Given the description of an element on the screen output the (x, y) to click on. 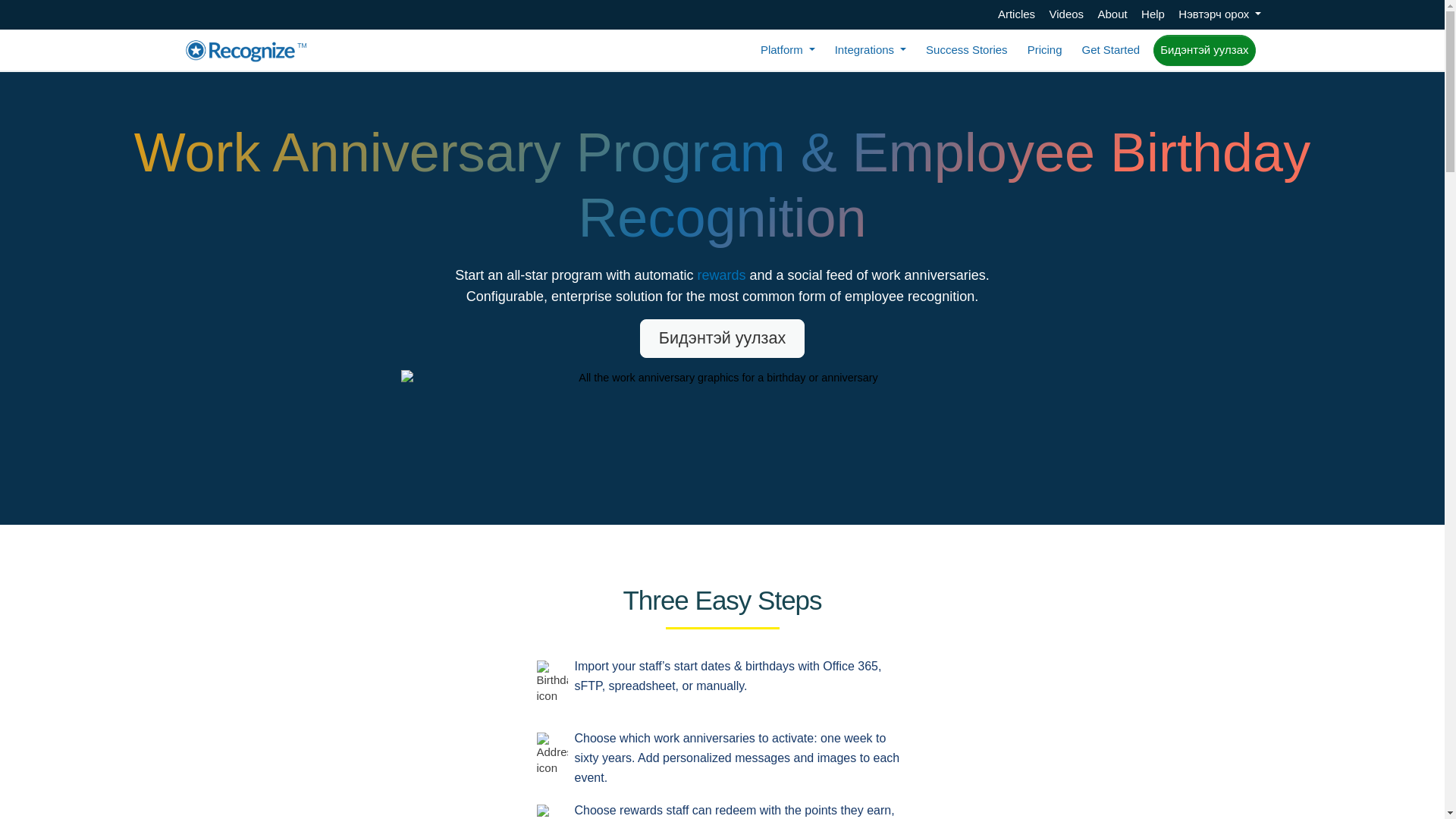
Articles (1016, 13)
Platform (787, 49)
Help (1152, 13)
Integrations (870, 49)
About (1111, 13)
Videos (1066, 13)
TM (246, 50)
